Given the description of an element on the screen output the (x, y) to click on. 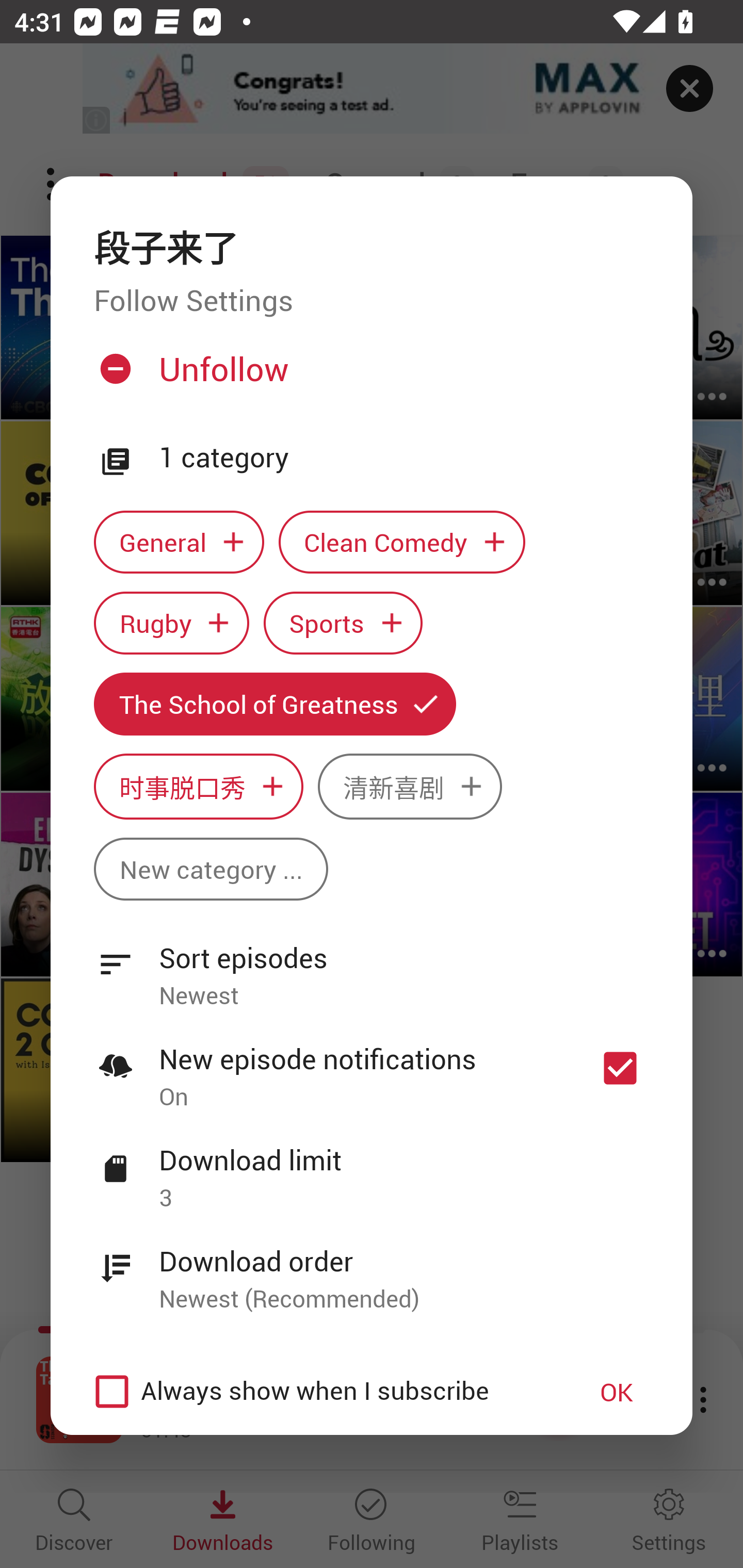
Unfollow (369, 376)
1 category (404, 457)
General (178, 542)
Clean Comedy (401, 542)
Rugby (170, 622)
Sports (342, 622)
The School of Greatness (274, 703)
时事脱口秀 (198, 787)
清新喜剧 (410, 787)
New category ... (210, 868)
Sort episodes Newest (371, 965)
New episode notifications (620, 1068)
Download limit 3 (371, 1167)
Download order Newest (Recommended) (371, 1268)
OK (616, 1391)
Always show when I subscribe (320, 1391)
